Given the description of an element on the screen output the (x, y) to click on. 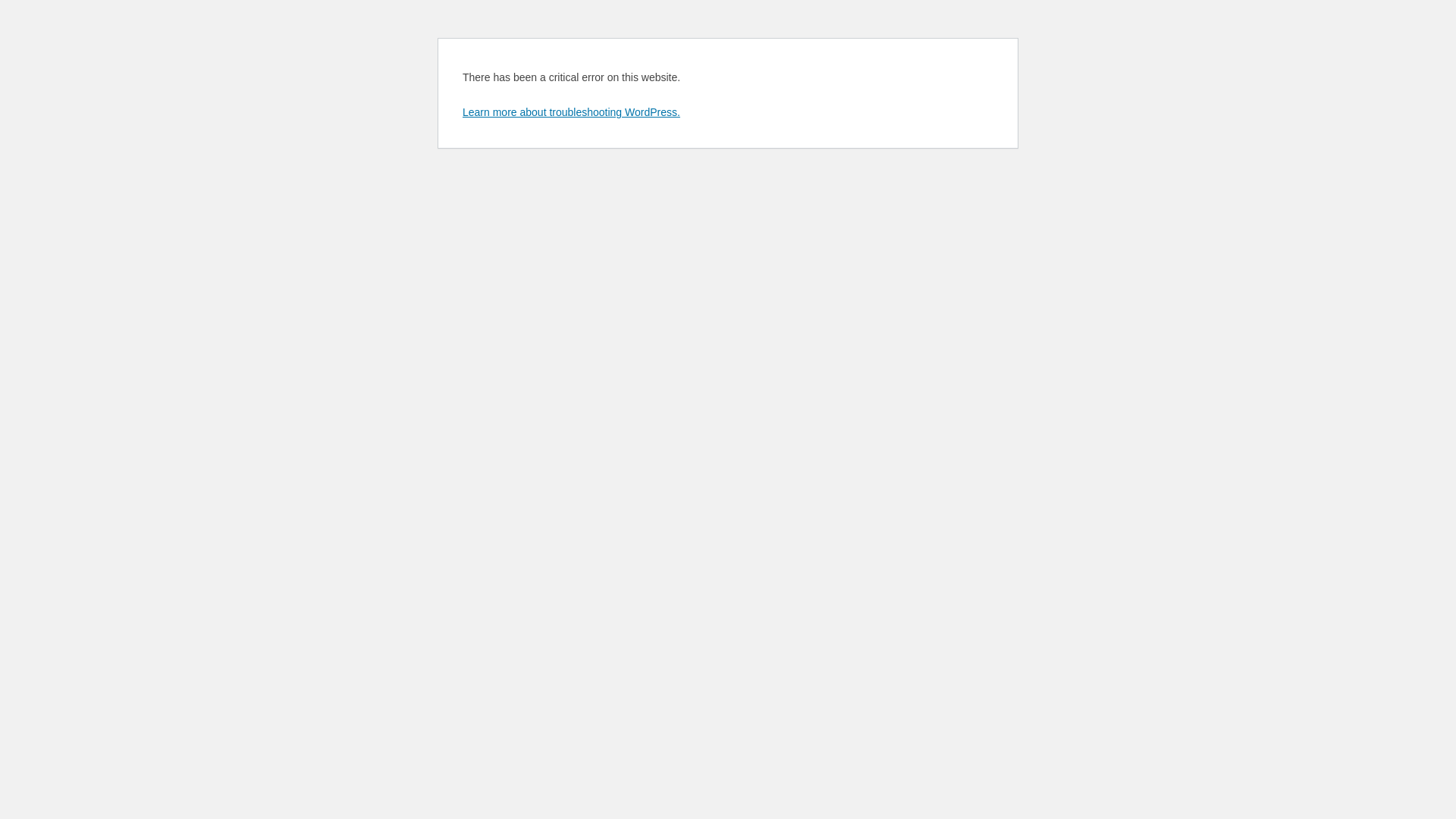
Learn more about troubleshooting WordPress. Element type: text (571, 112)
